Given the description of an element on the screen output the (x, y) to click on. 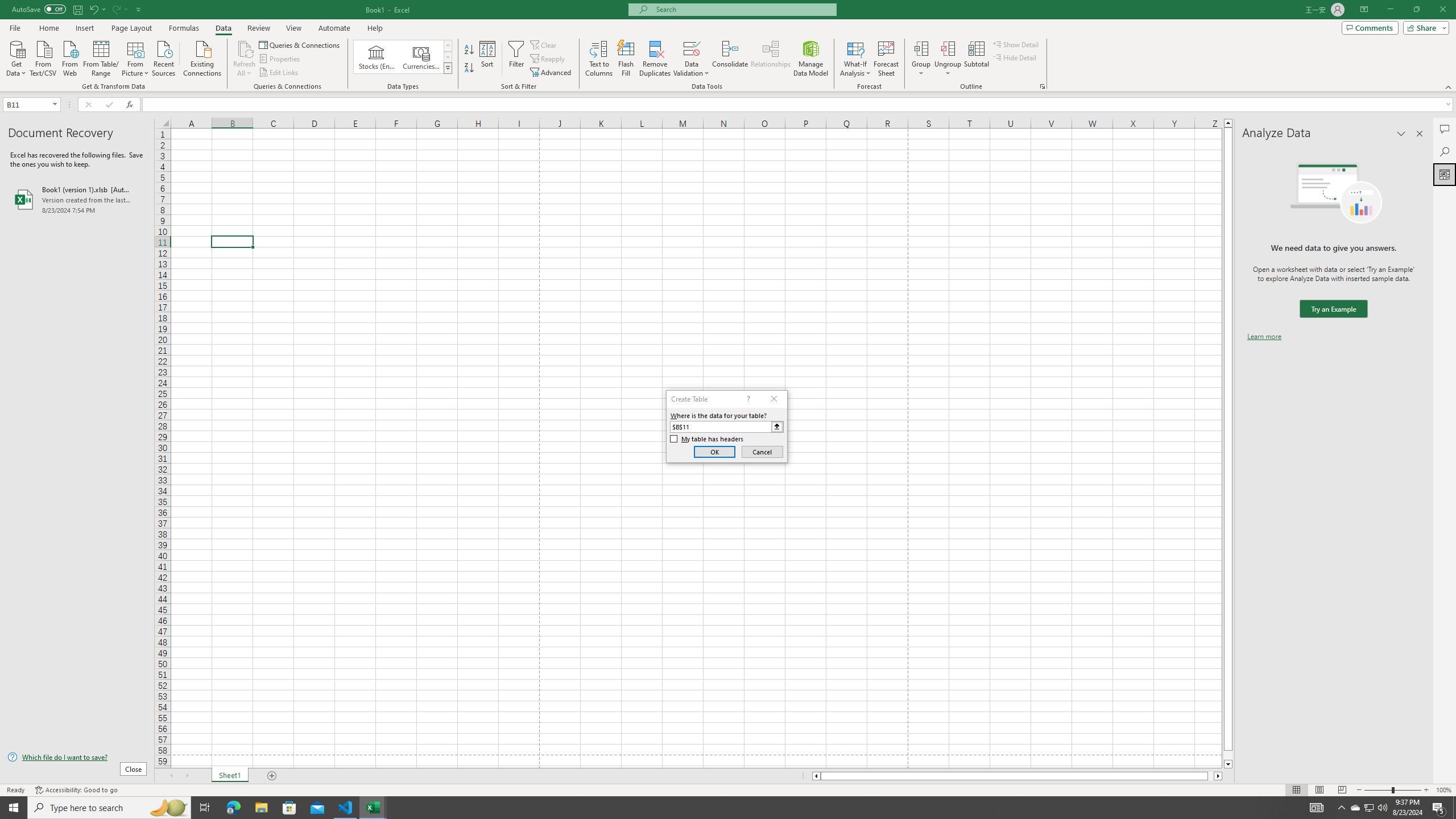
Analyze Data (1444, 173)
